Given the description of an element on the screen output the (x, y) to click on. 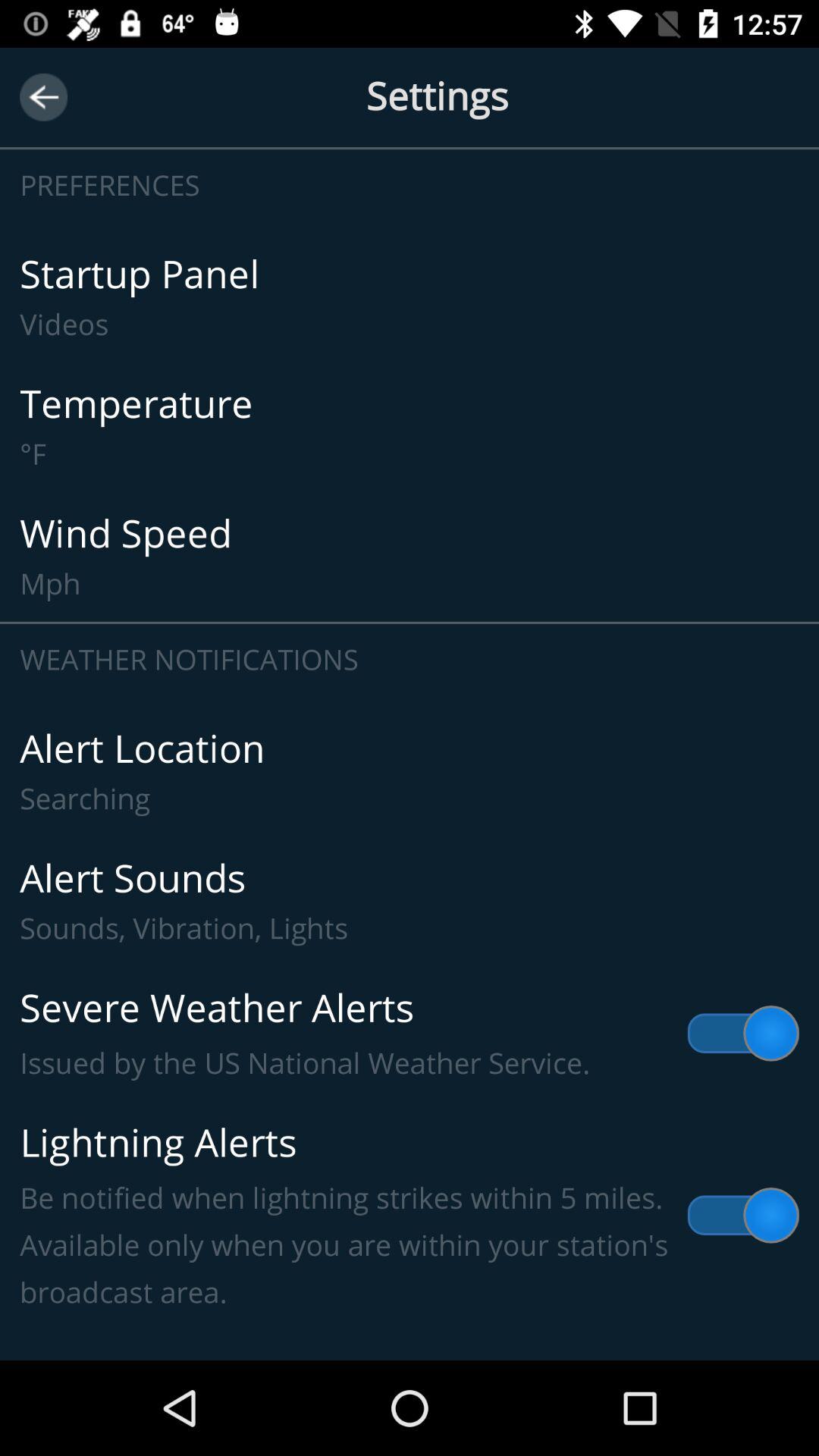
turn on startup panel
videos item (409, 297)
